Given the description of an element on the screen output the (x, y) to click on. 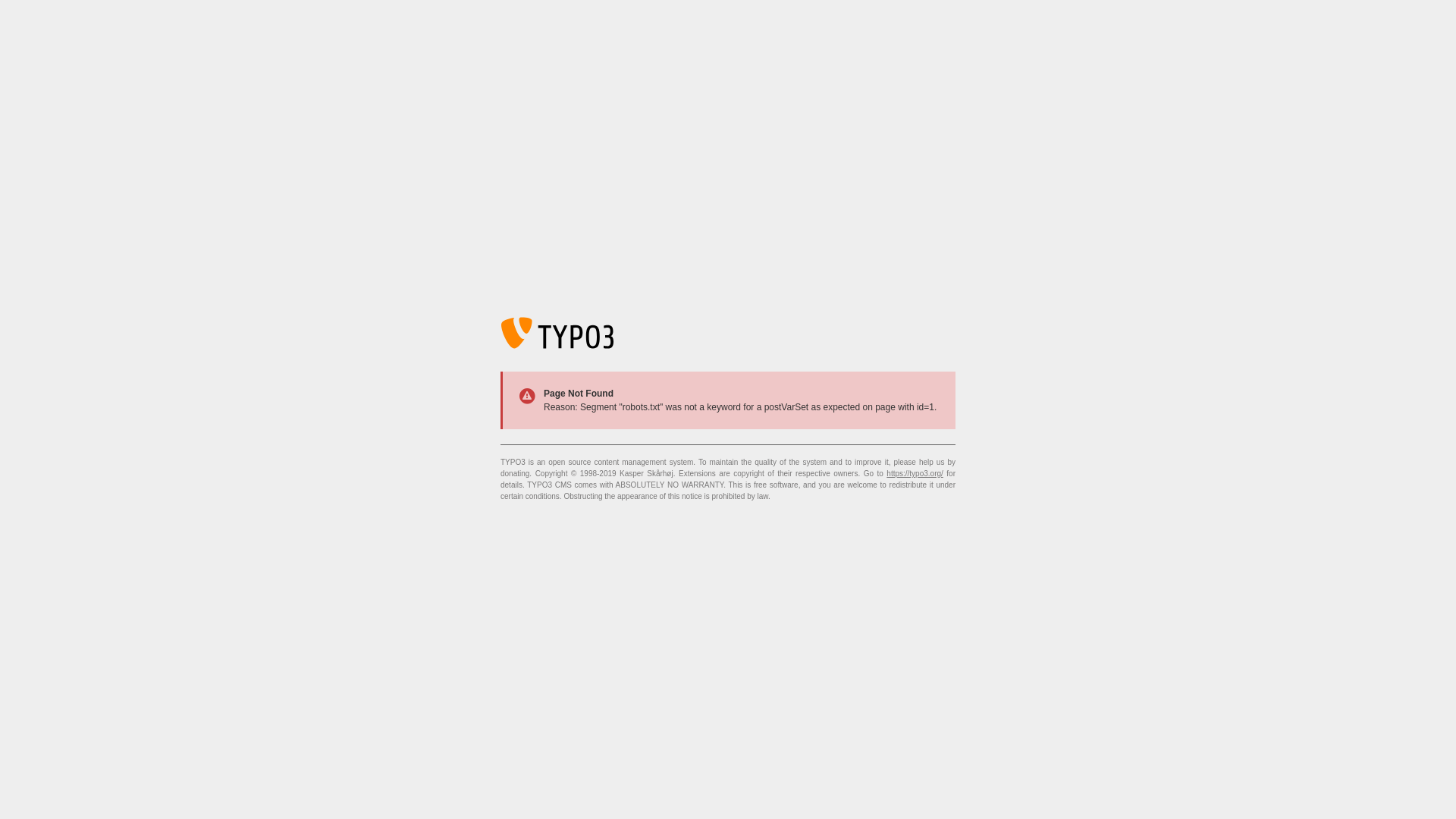
https://typo3.org/ Element type: text (914, 473)
